Given the description of an element on the screen output the (x, y) to click on. 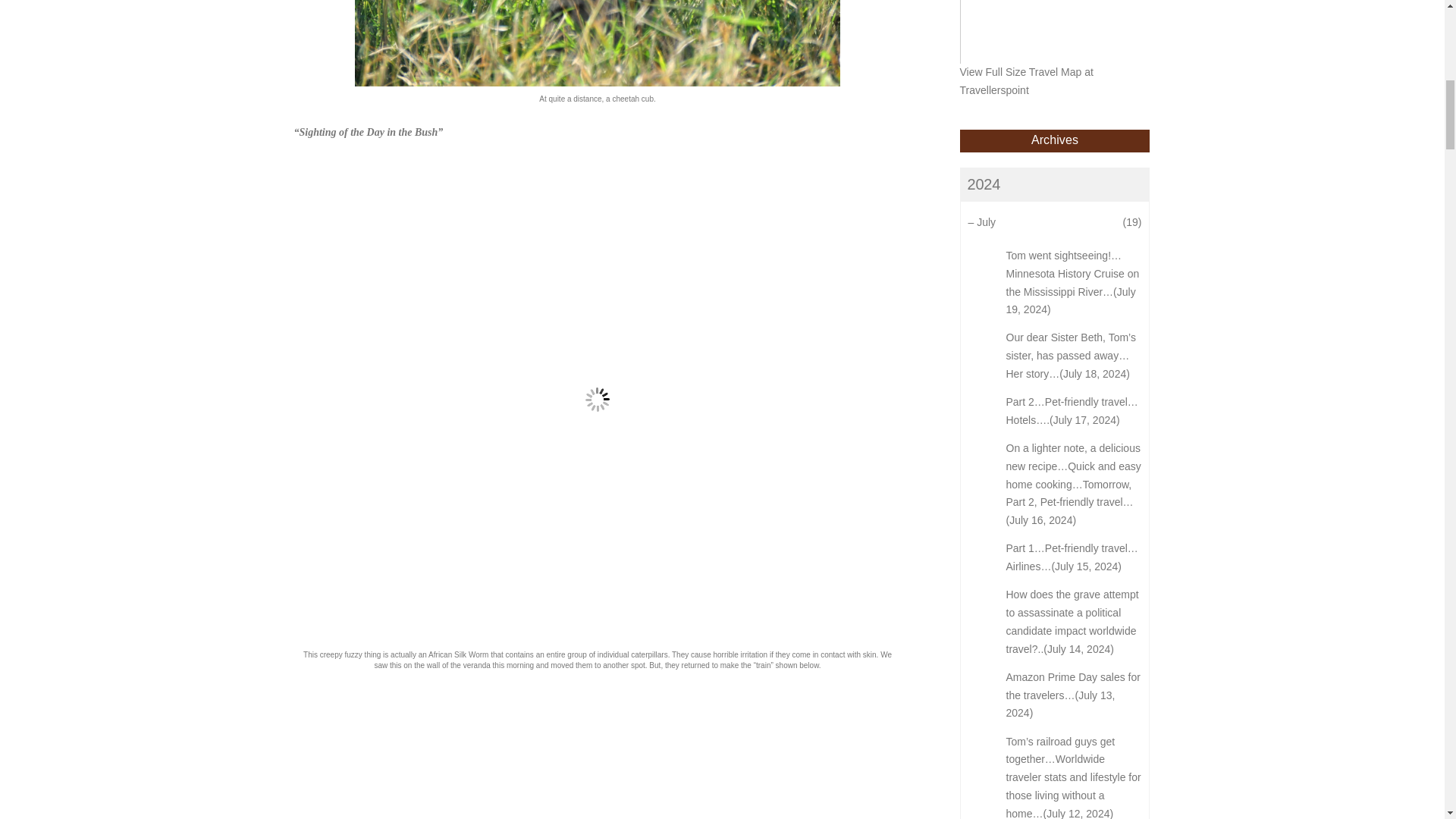
2024 (1054, 183)
Travellerspoint (994, 90)
Travel Map (1055, 71)
